Given the description of an element on the screen output the (x, y) to click on. 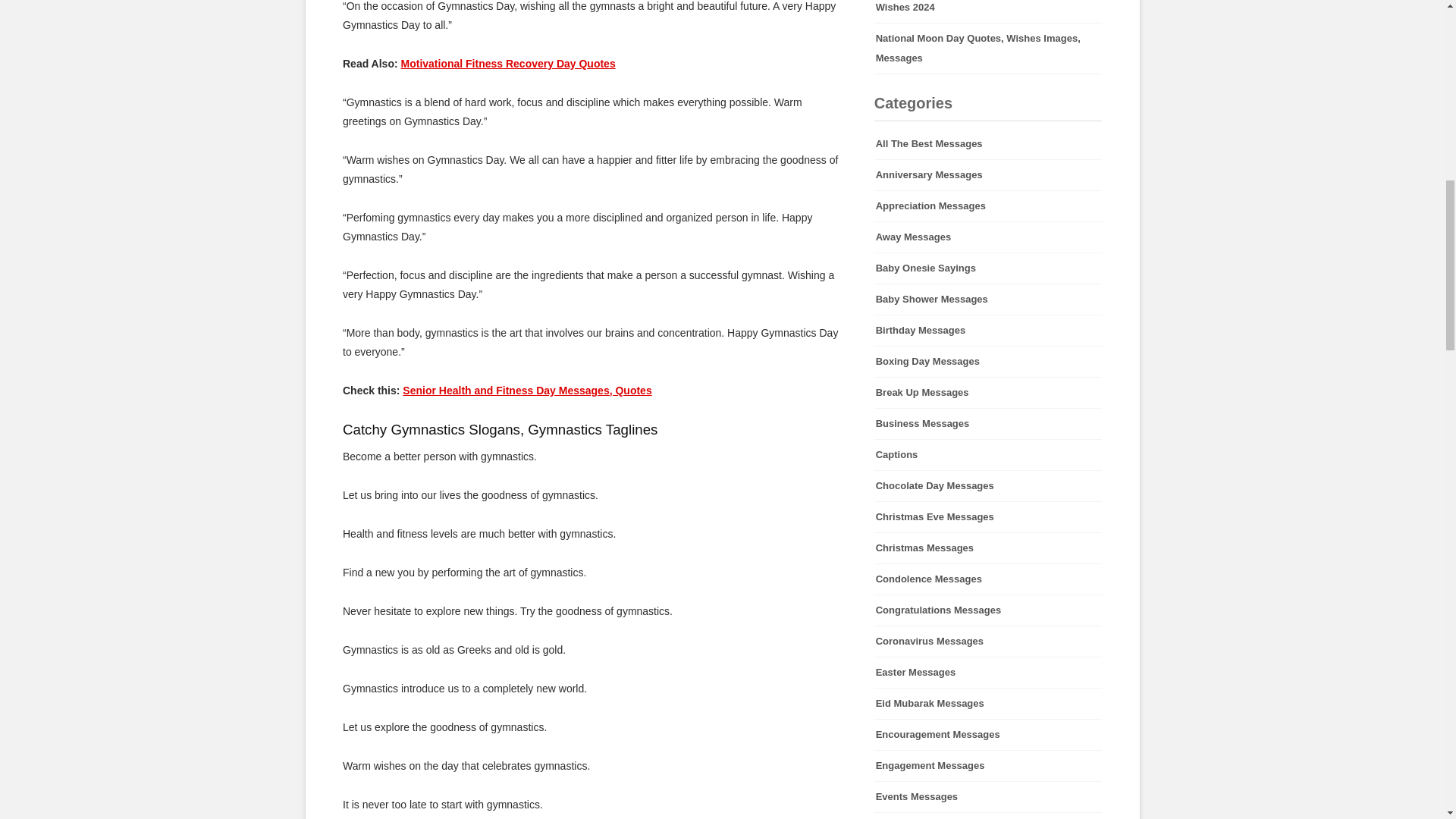
Away Messages (988, 236)
Christmas Eve Messages (988, 517)
Christmas Messages (988, 548)
National Moon Day Quotes, Wishes Images, Messages (988, 48)
Business Messages (988, 423)
Anniversary Messages (988, 174)
Boxing Day Messages (988, 361)
All The Best Messages (988, 143)
Baby Shower Messages (988, 299)
Happy National Lollipop Day Messages, Wishes 2024 (988, 11)
Appreciation Messages (988, 205)
Motivational Fitness Recovery Day Quotes (507, 63)
Congratulations Messages (988, 610)
Birthday Messages (988, 330)
Condolence Messages (988, 579)
